Given the description of an element on the screen output the (x, y) to click on. 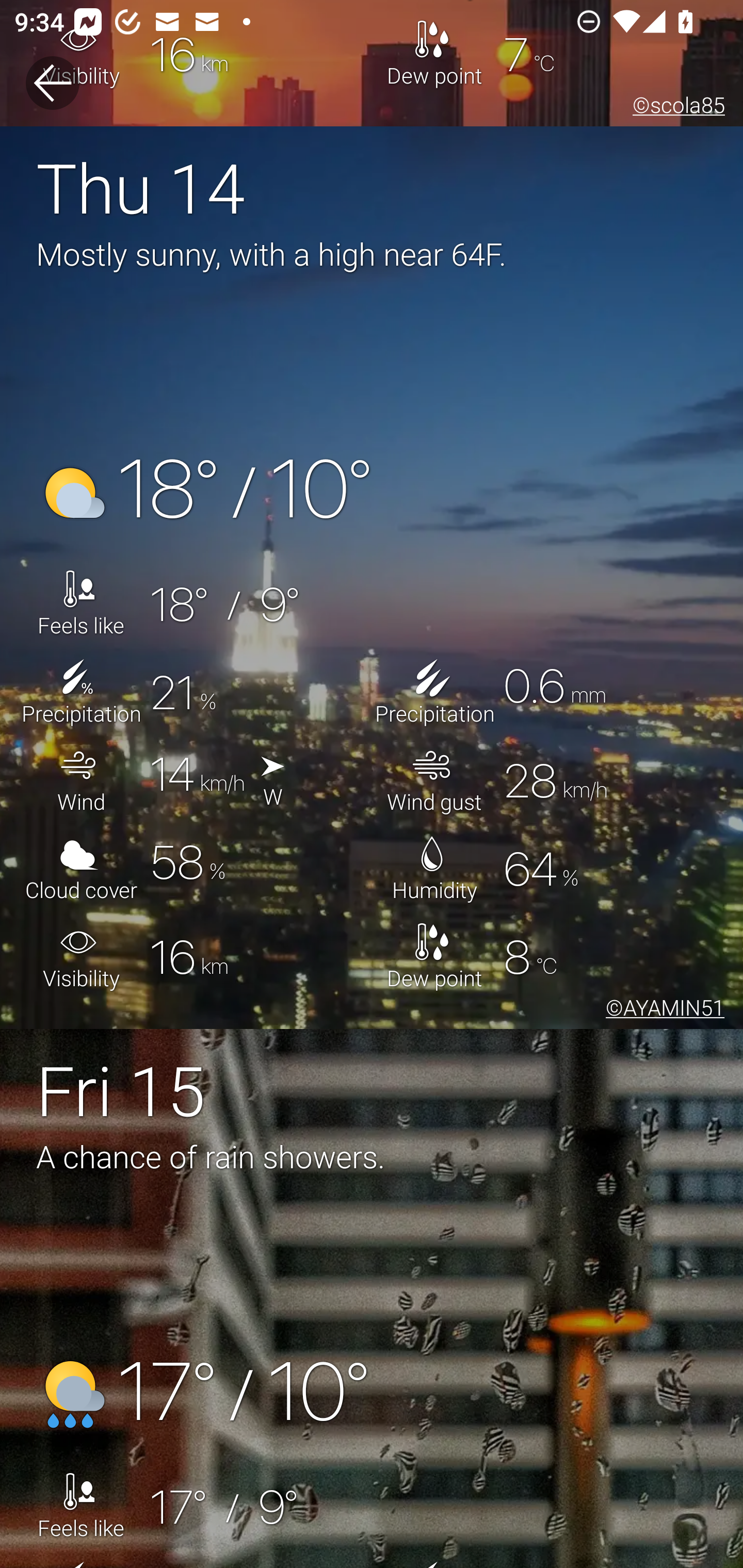
©scola85 (675, 108)
©AYAMIN51 (661, 1010)
